Given the description of an element on the screen output the (x, y) to click on. 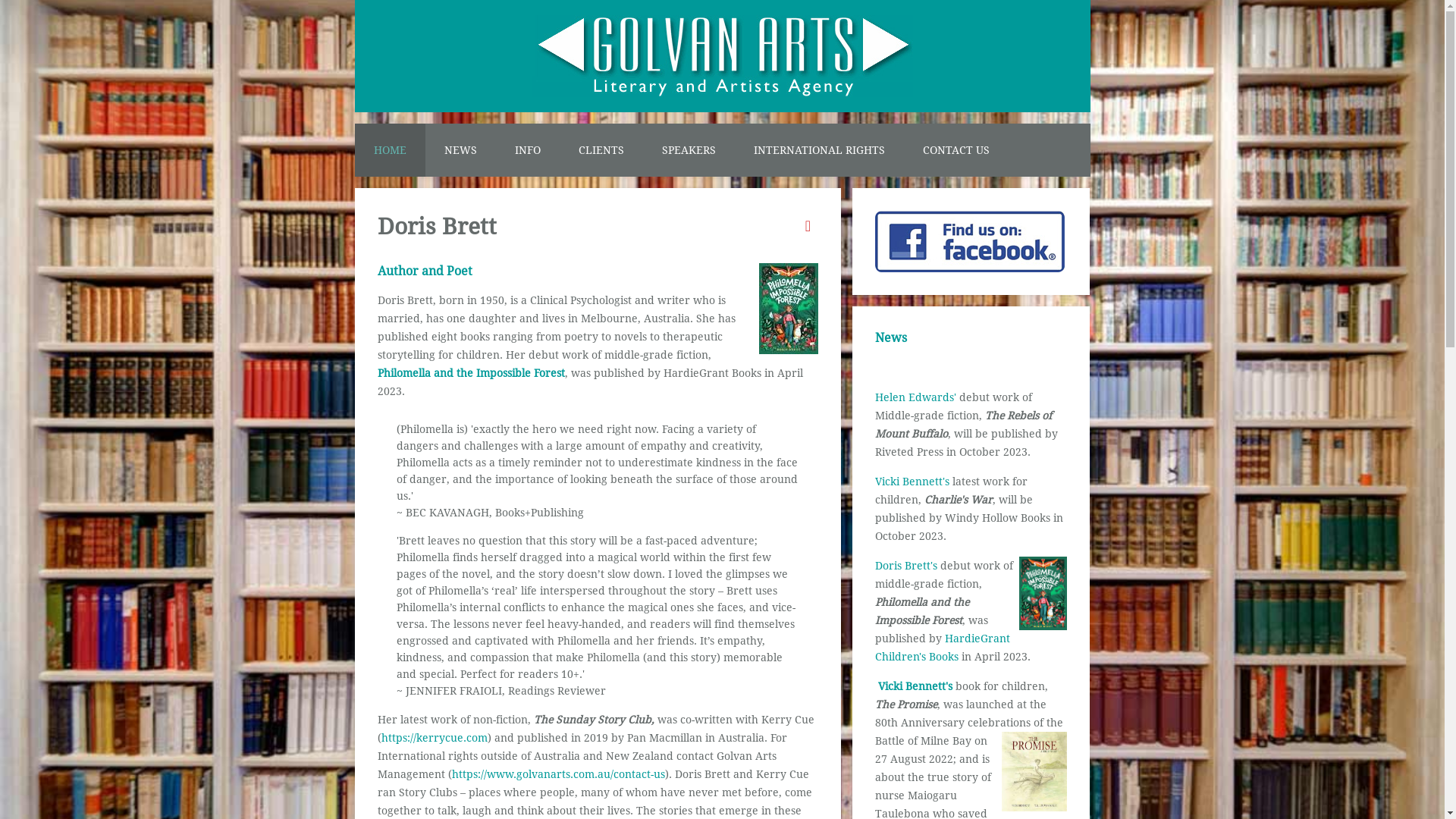
CONTACT US Element type: text (955, 149)
HardieGrant Children's Books Element type: text (942, 647)
HOME Element type: text (389, 149)
INTERNATIONAL RIGHTS Element type: text (818, 149)
https://kerrycue.com Element type: text (433, 737)
SPEAKERS Element type: text (688, 149)
Vicki Bennett's Element type: text (915, 686)
Vicki Bennett's Element type: text (912, 481)
CLIENTS Element type: text (601, 149)
Philomella and the Impossible Forest Element type: text (470, 373)
INFO Element type: text (527, 149)
https://www.golvanarts.com.au/contact-us Element type: text (558, 774)
Helen Edwards' Element type: text (915, 397)
NEWS Element type: text (459, 149)
Doris Brett's Element type: text (906, 565)
